Given the description of an element on the screen output the (x, y) to click on. 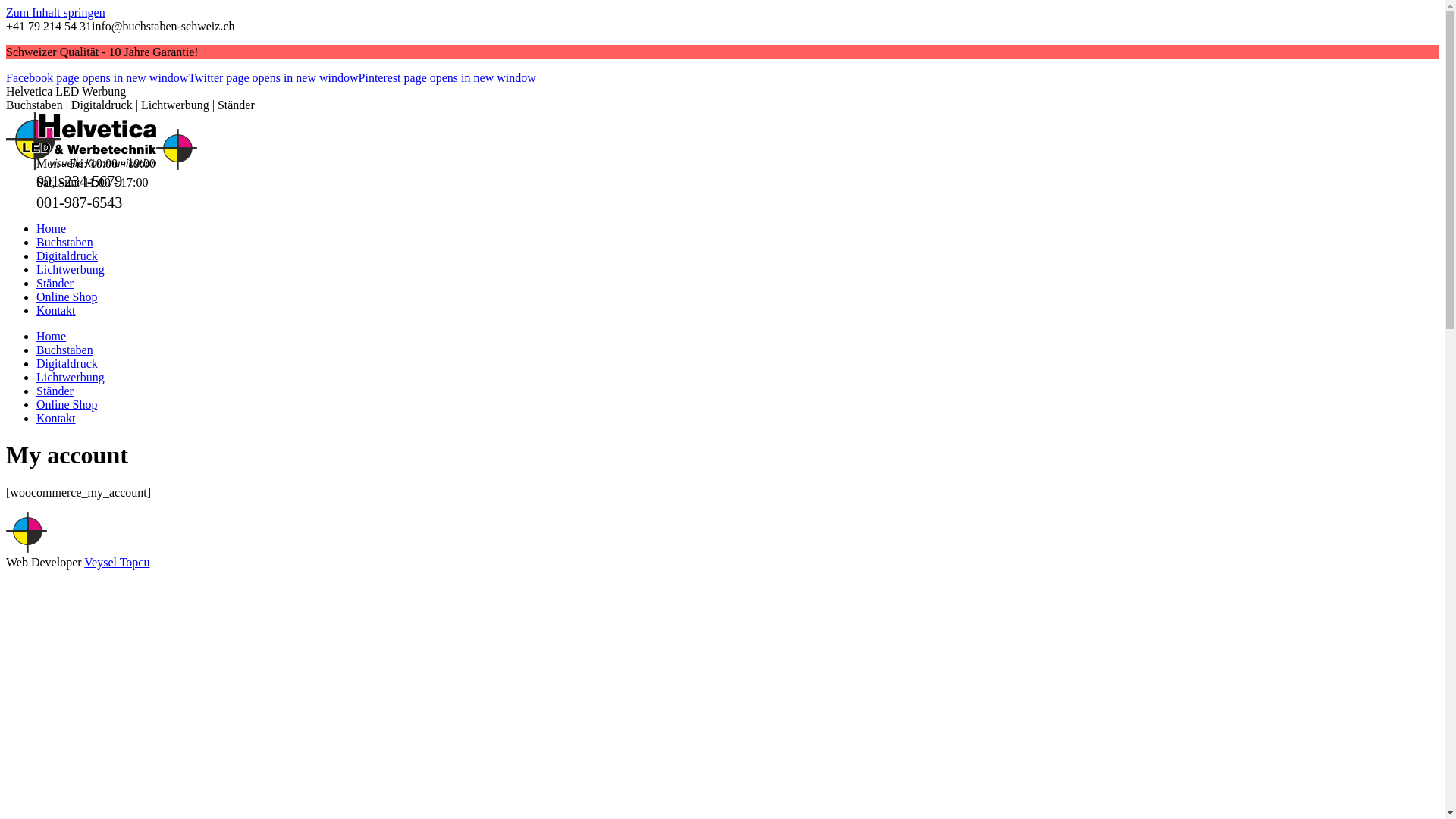
Kontakt Element type: text (55, 417)
Online Shop Element type: text (66, 404)
Twitter page opens in new window Element type: text (272, 77)
Lichtwerbung Element type: text (70, 269)
Pinterest page opens in new window Element type: text (447, 77)
Buchstaben Element type: text (64, 241)
Home Element type: text (50, 228)
Lichtwerbung Element type: text (70, 376)
Digitaldruck Element type: text (66, 363)
Veysel Topcu Element type: text (116, 561)
Online Shop Element type: text (66, 296)
Kontakt Element type: text (55, 310)
Home Element type: text (50, 335)
Zum Inhalt springen Element type: text (55, 12)
Buchstaben Element type: text (64, 349)
Digitaldruck Element type: text (66, 255)
Facebook page opens in new window Element type: text (97, 77)
